Given the description of an element on the screen output the (x, y) to click on. 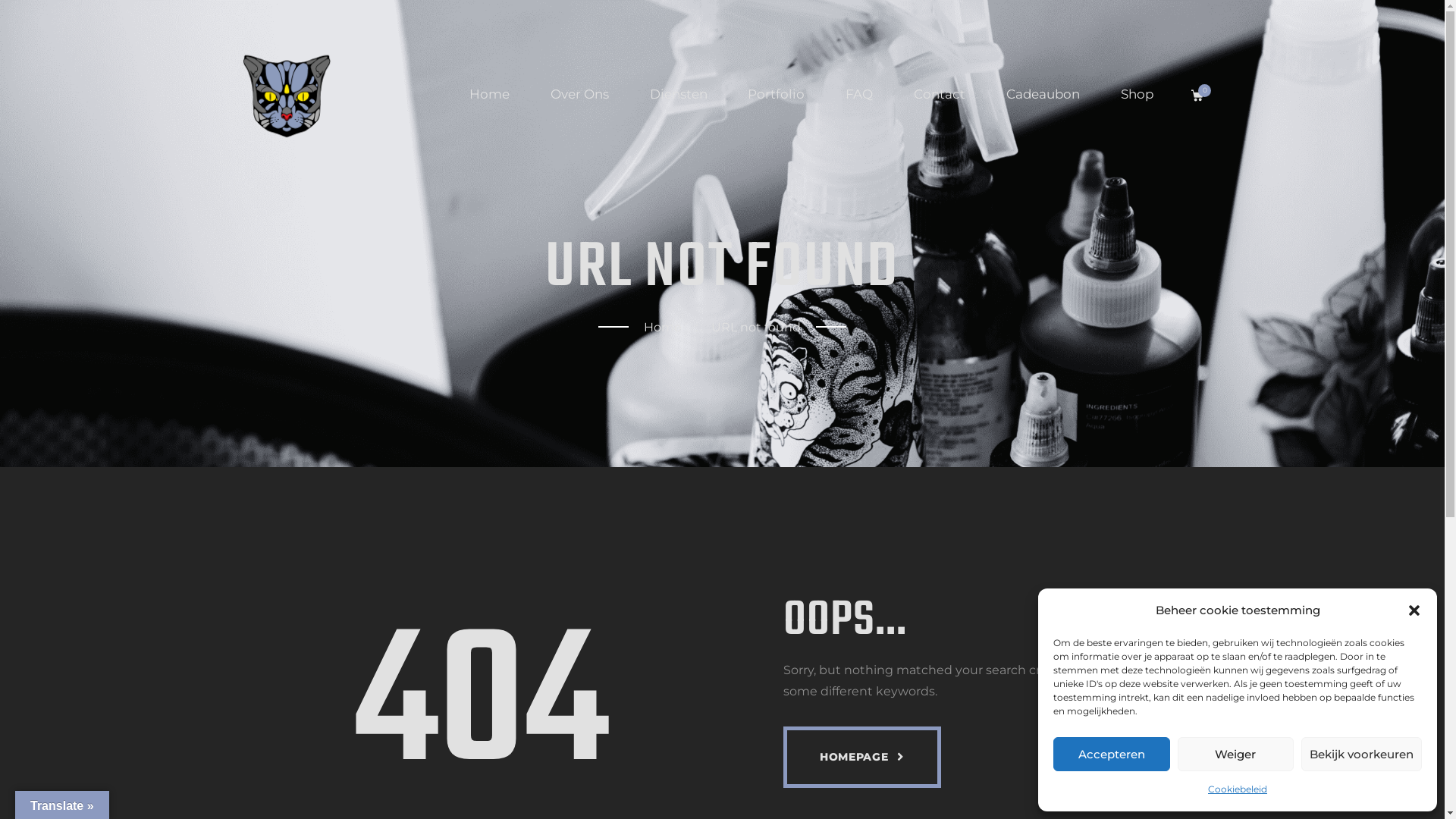
HOMEPAGE Element type: text (861, 756)
Contact Element type: text (939, 94)
Weiger Element type: text (1234, 754)
Cookiebeleid Element type: text (1237, 789)
Home Element type: text (662, 327)
Bekijk voorkeuren Element type: text (1361, 754)
Over Ons Element type: text (579, 94)
Diensten Element type: text (678, 94)
Portfolio Element type: text (776, 94)
Shop Element type: text (1136, 94)
Accepteren Element type: text (1111, 754)
Home Element type: text (489, 94)
FAQ Element type: text (859, 94)
Cadeaubon Element type: text (1042, 94)
